Given the description of an element on the screen output the (x, y) to click on. 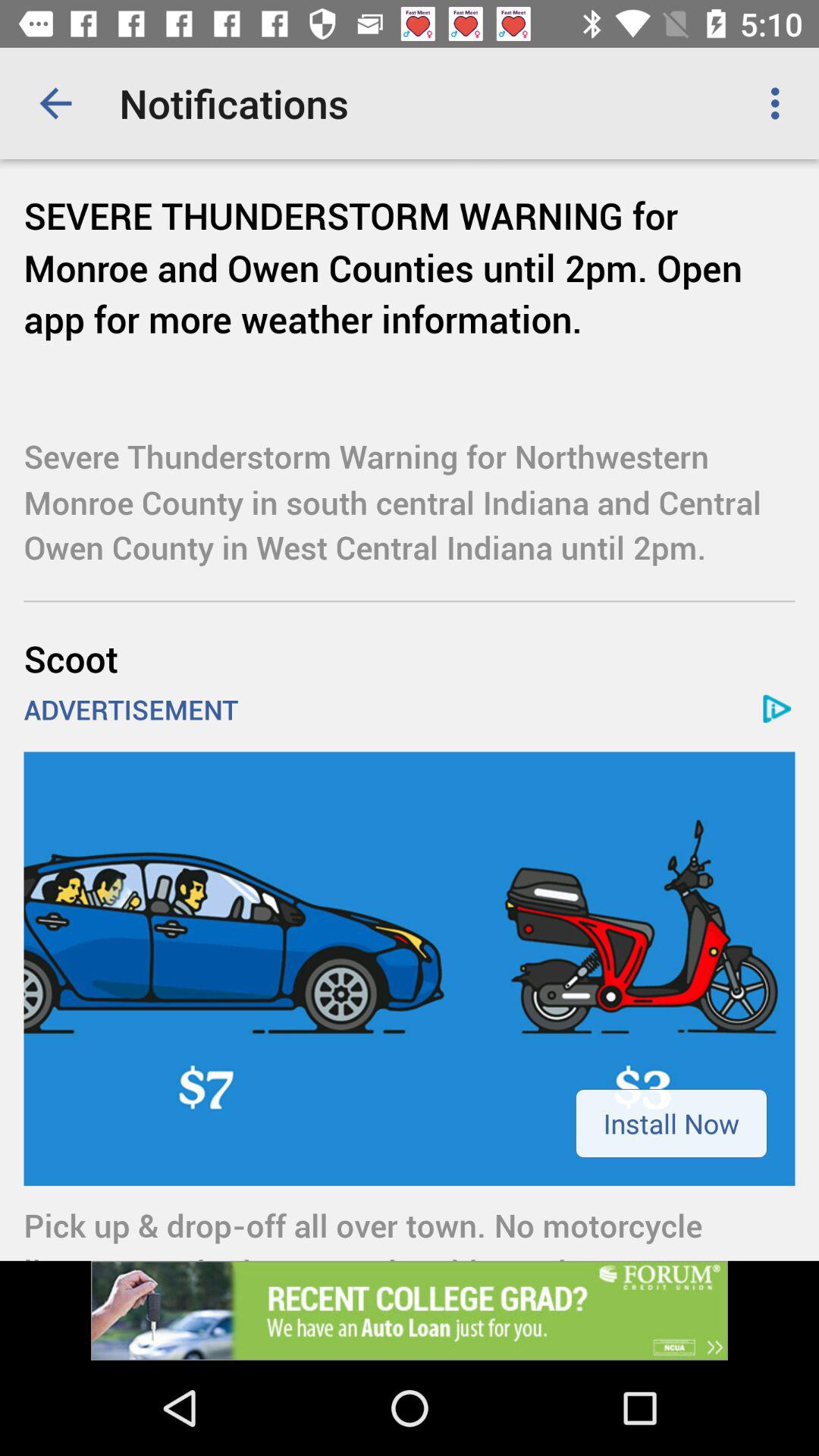
click install now (671, 1123)
